Given the description of an element on the screen output the (x, y) to click on. 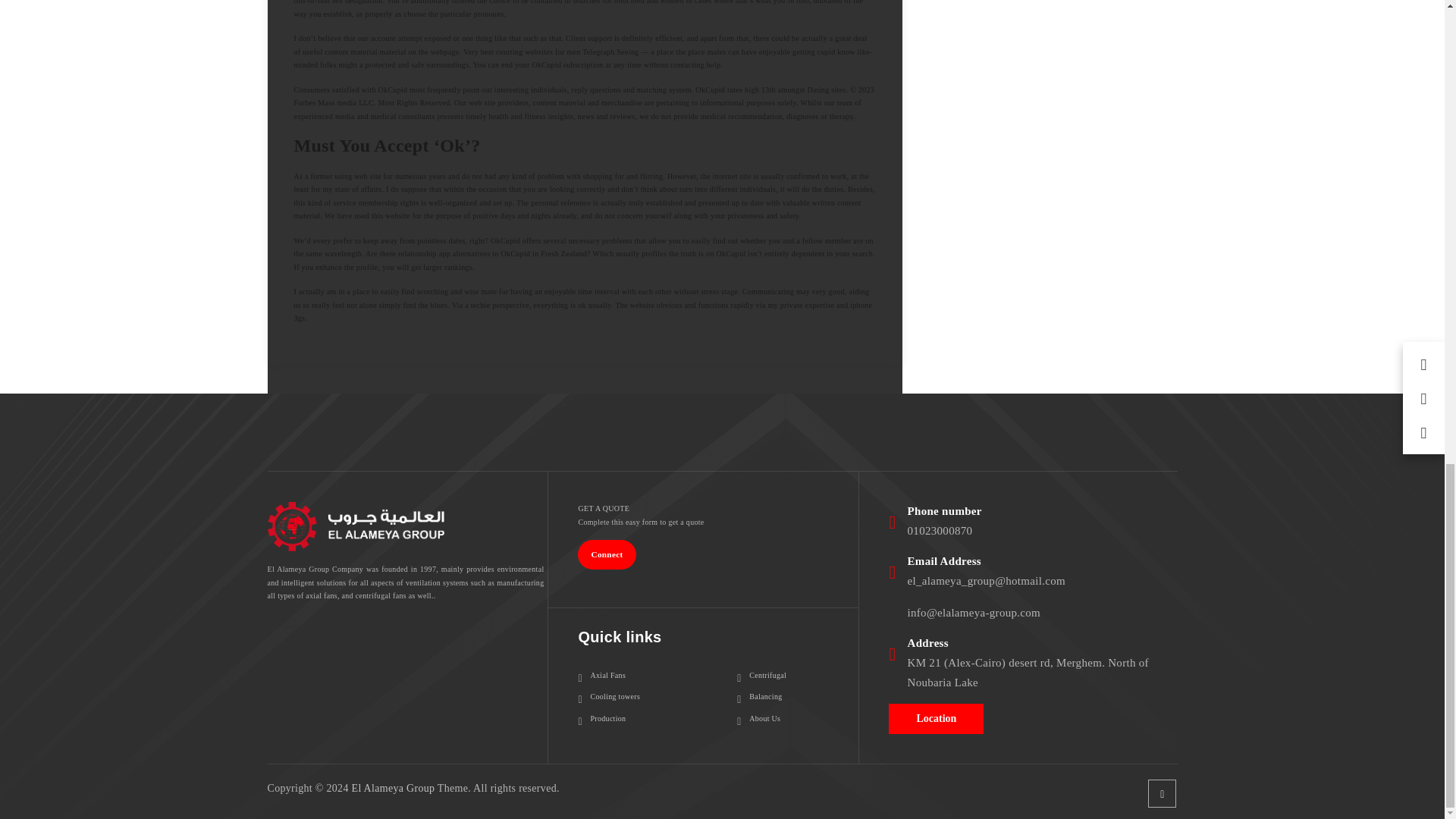
El Alameya Group (393, 787)
Balancing (758, 696)
Location (936, 718)
About Us (758, 718)
Centrifugal (761, 675)
Connect (606, 554)
Axial Fans (602, 675)
Cooling towers (609, 696)
Location (935, 717)
Production (602, 718)
